Given the description of an element on the screen output the (x, y) to click on. 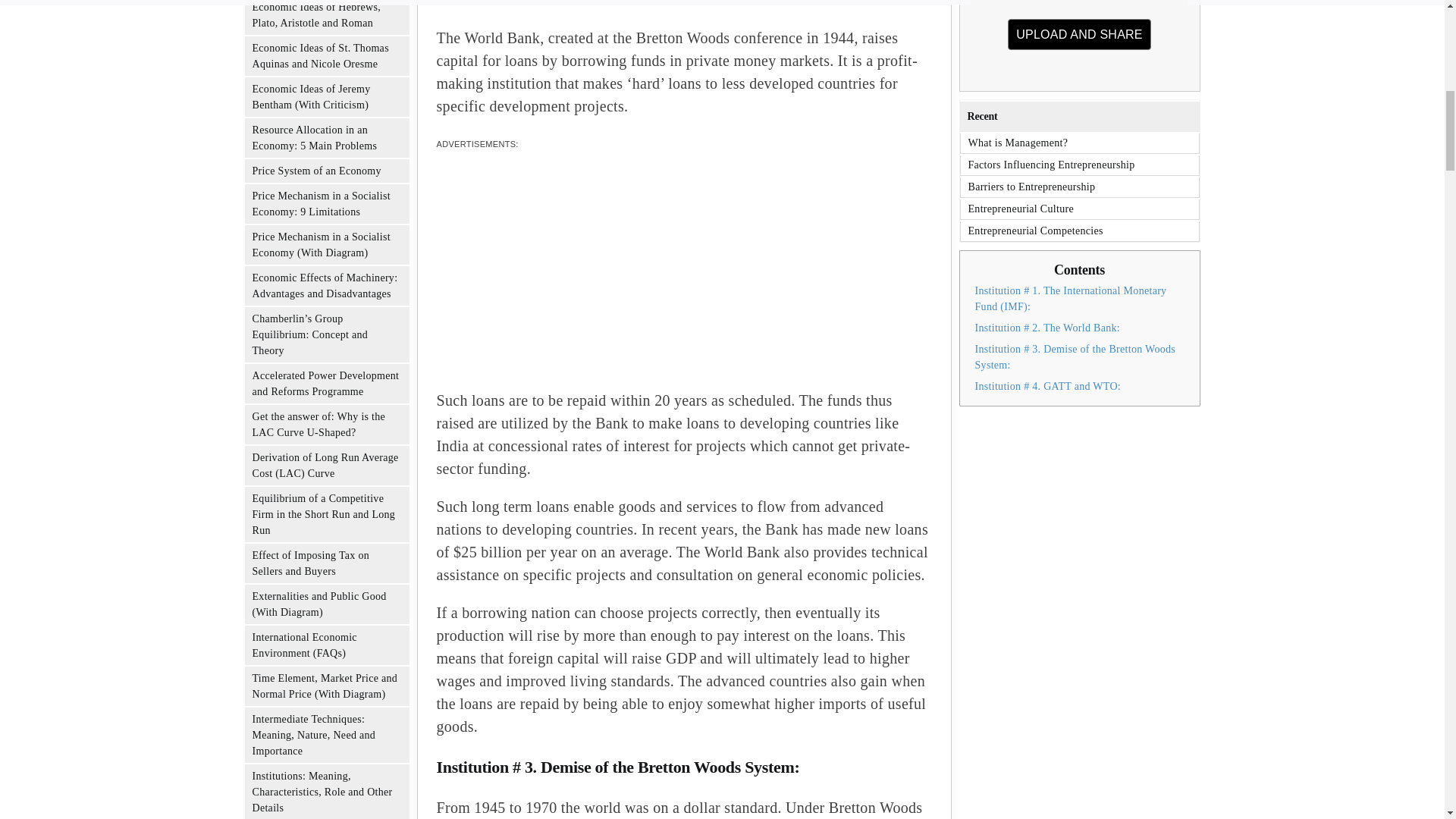
Price Mechanism in a Socialist Economy: 9 Limitations (320, 203)
Advertisement (683, 276)
Resource Allocation in an Economy: 5 Main Problems (314, 137)
Price System of an Economy (1080, 38)
Economic Ideas of Hebrews, Plato, Aristotle and Roman (315, 170)
Economic Ideas of St. Thomas Aquinas and Nicole Oresme (315, 14)
